Given the description of an element on the screen output the (x, y) to click on. 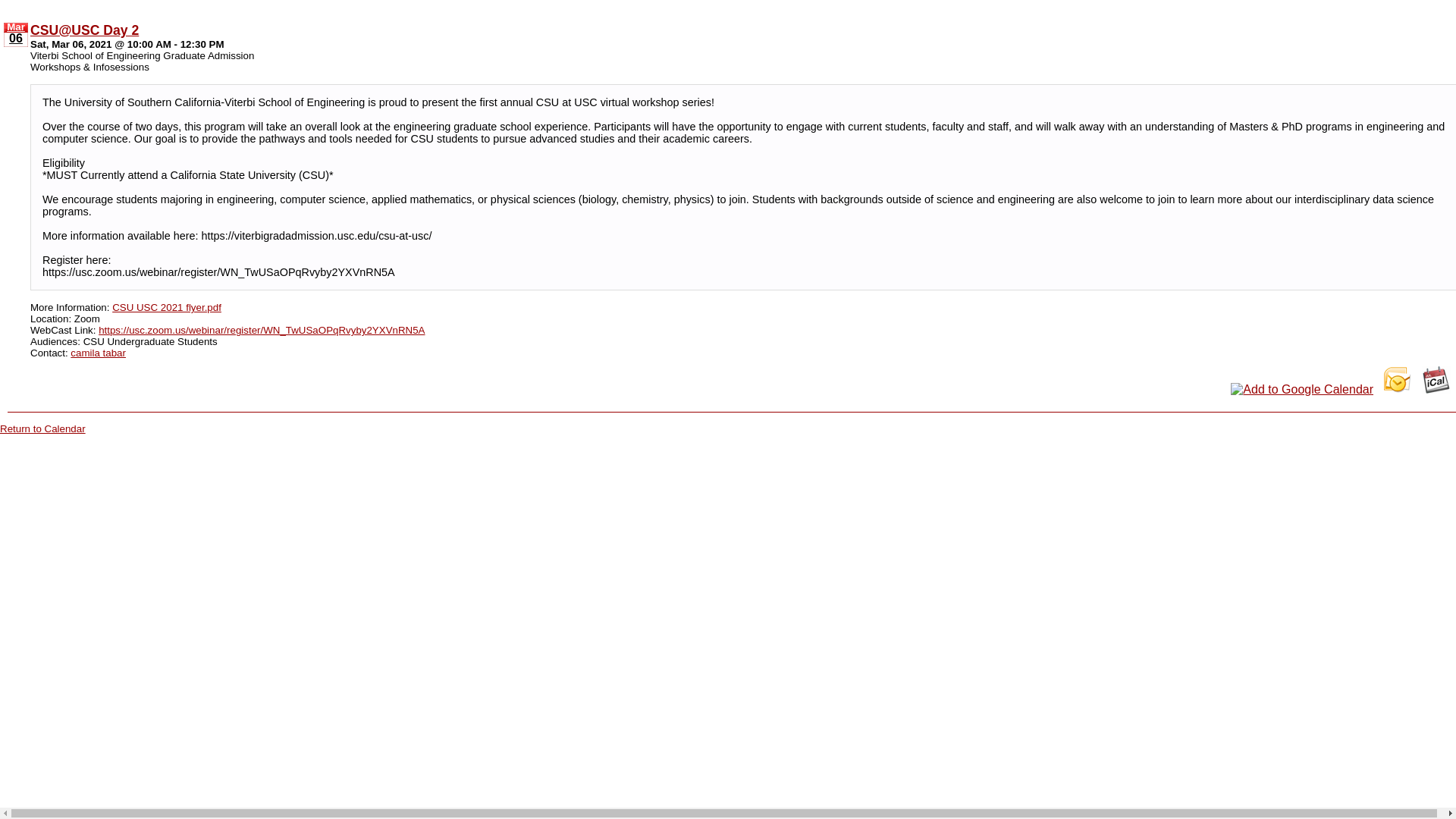
camila tabar (97, 351)
CSU USC 2021 flyer.pdf (166, 305)
06 (15, 38)
Mar (15, 26)
Send Email to camila tabar (97, 351)
